Given the description of an element on the screen output the (x, y) to click on. 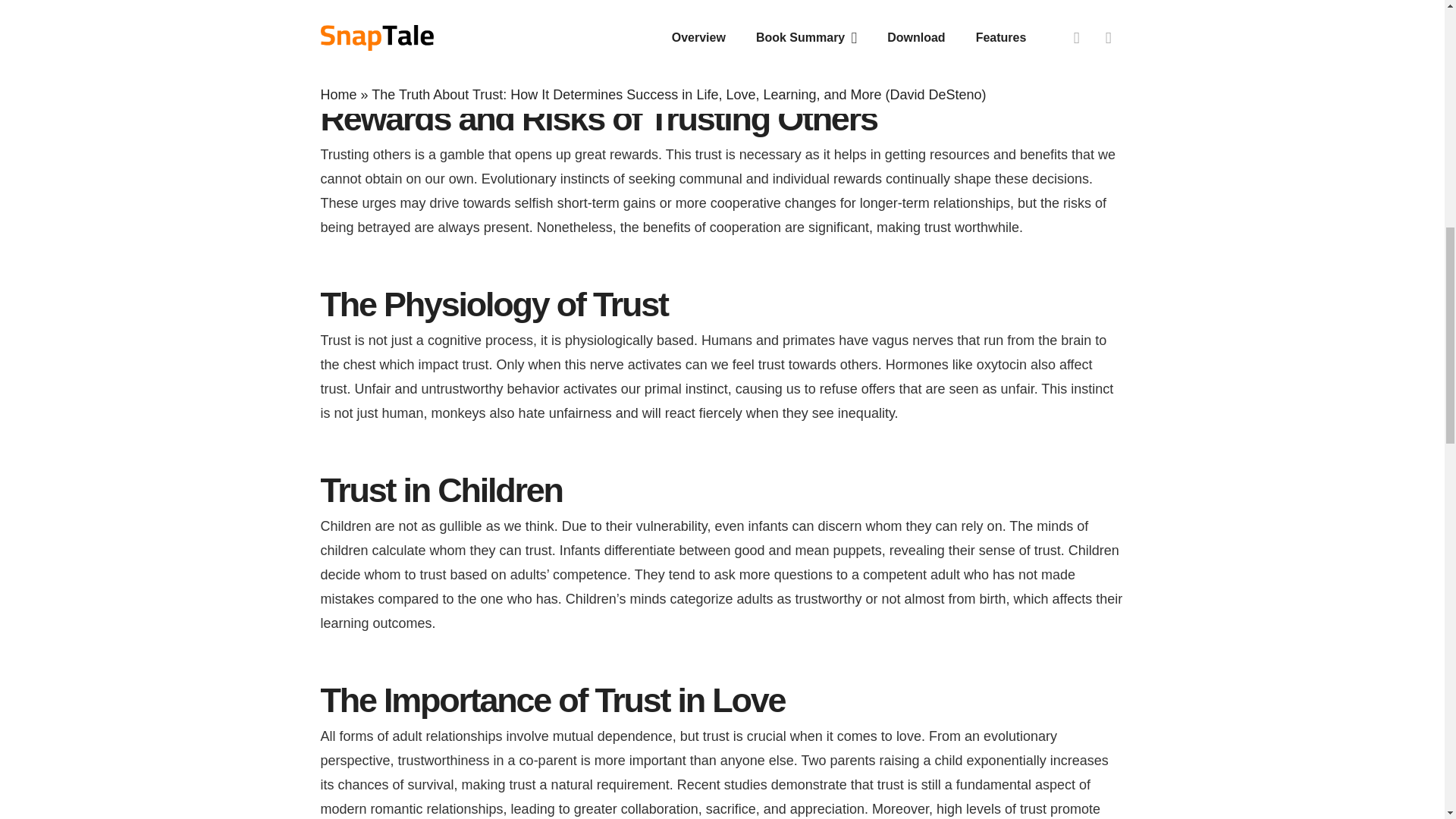
Back to top (1413, 37)
